Given the description of an element on the screen output the (x, y) to click on. 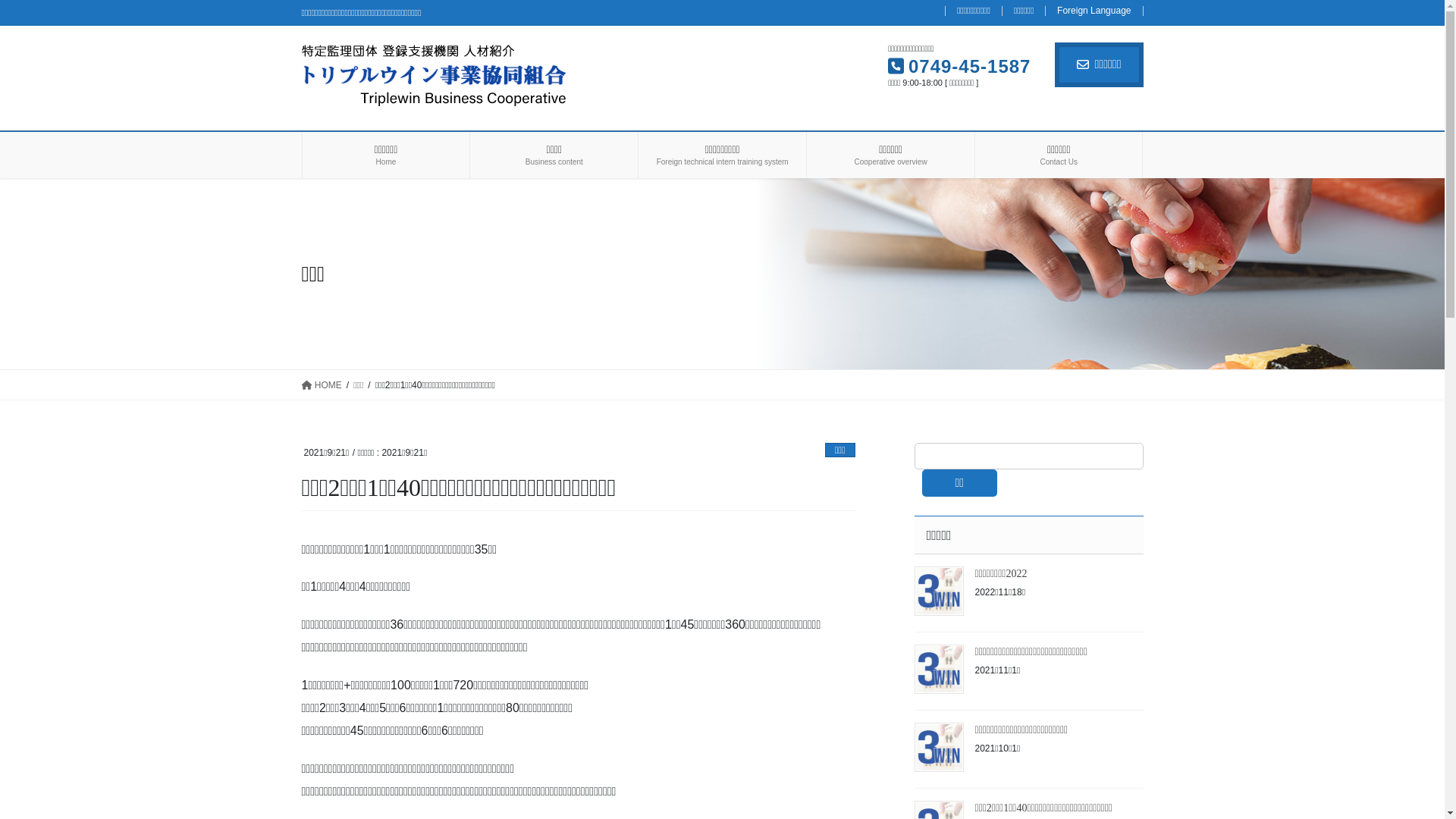
HOME Element type: text (321, 384)
Foreign Language Element type: text (1093, 10)
